Given the description of an element on the screen output the (x, y) to click on. 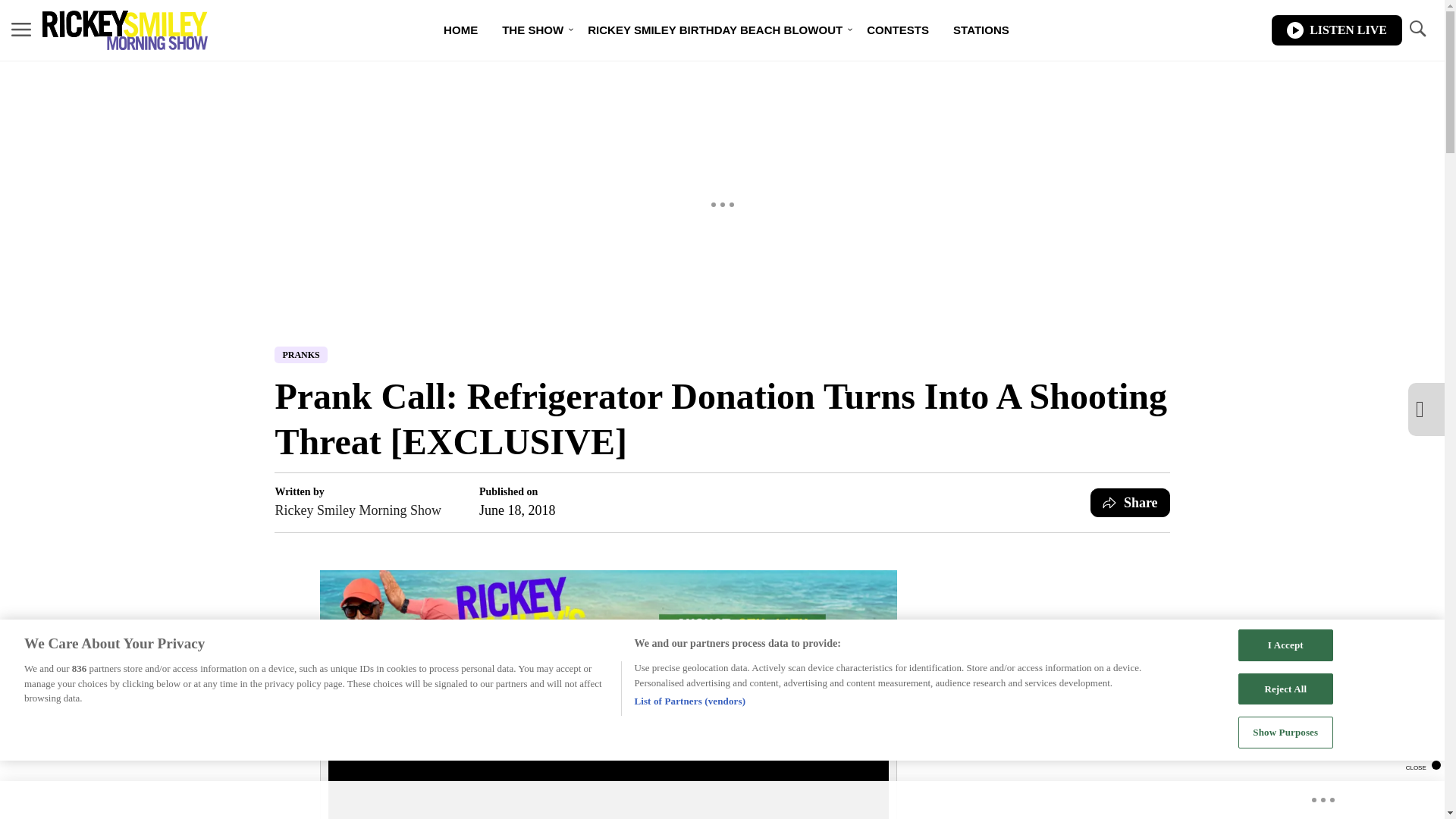
Stations (981, 30)
RICKEY SMILEY BIRTHDAY BEACH BLOWOUT (714, 30)
LISTEN LIVE (1336, 30)
THE SHOW (532, 30)
CONTESTS (897, 30)
TOGGLE SEARCH (1417, 28)
Rickey Smiley Morning Show (358, 509)
MENU (20, 29)
Share (1130, 502)
TOGGLE SEARCH (1417, 30)
STATIONS (981, 30)
MENU (20, 30)
HOME (459, 30)
PRANKS (300, 354)
